Given the description of an element on the screen output the (x, y) to click on. 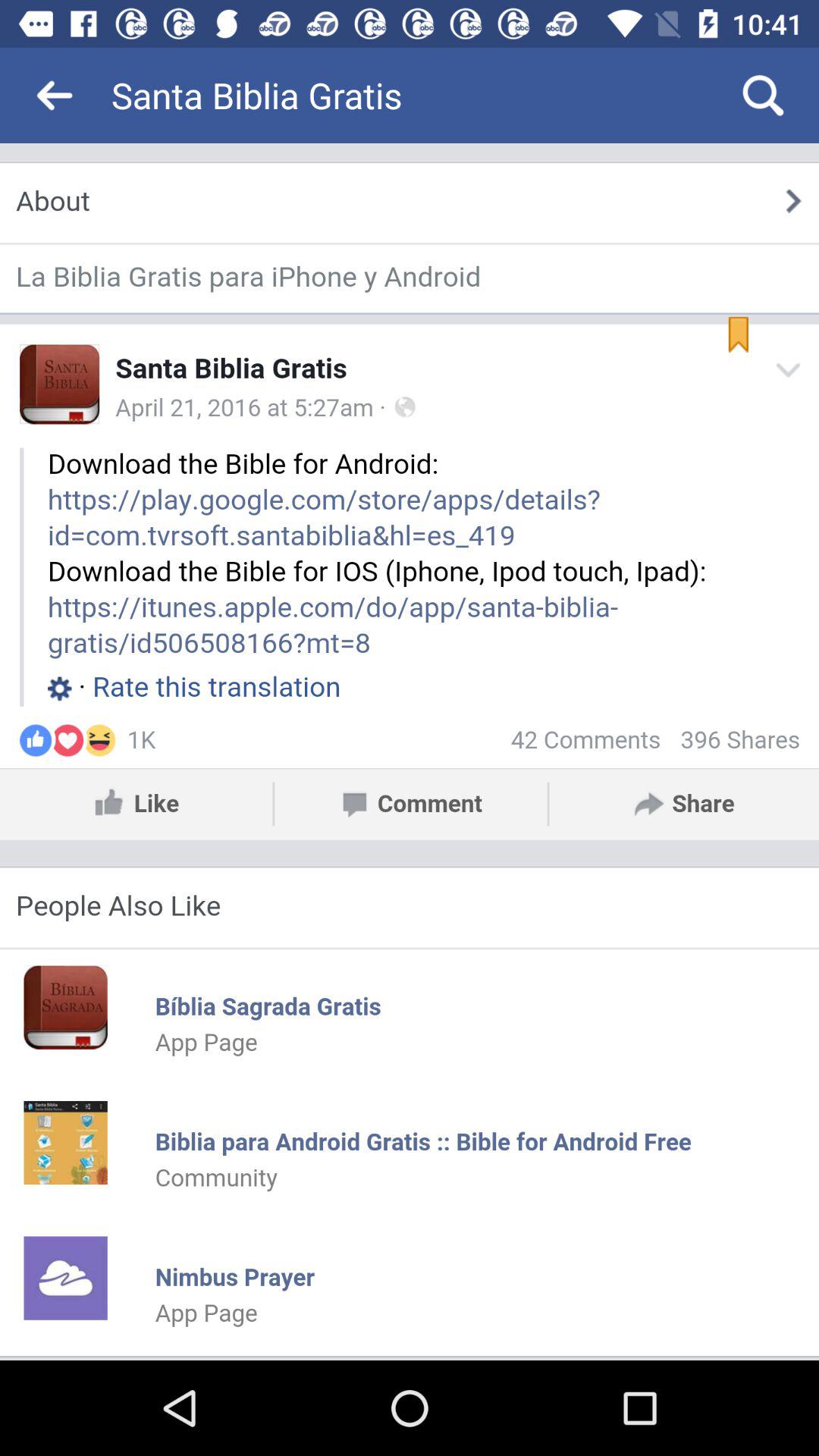
select the item at the top right corner (763, 95)
